Given the description of an element on the screen output the (x, y) to click on. 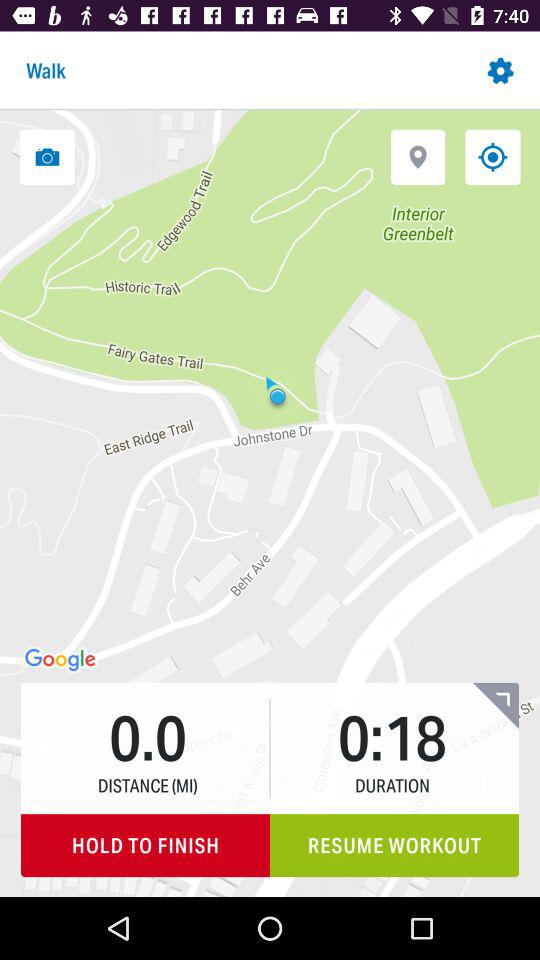
press icon above resume workout item (495, 705)
